Given the description of an element on the screen output the (x, y) to click on. 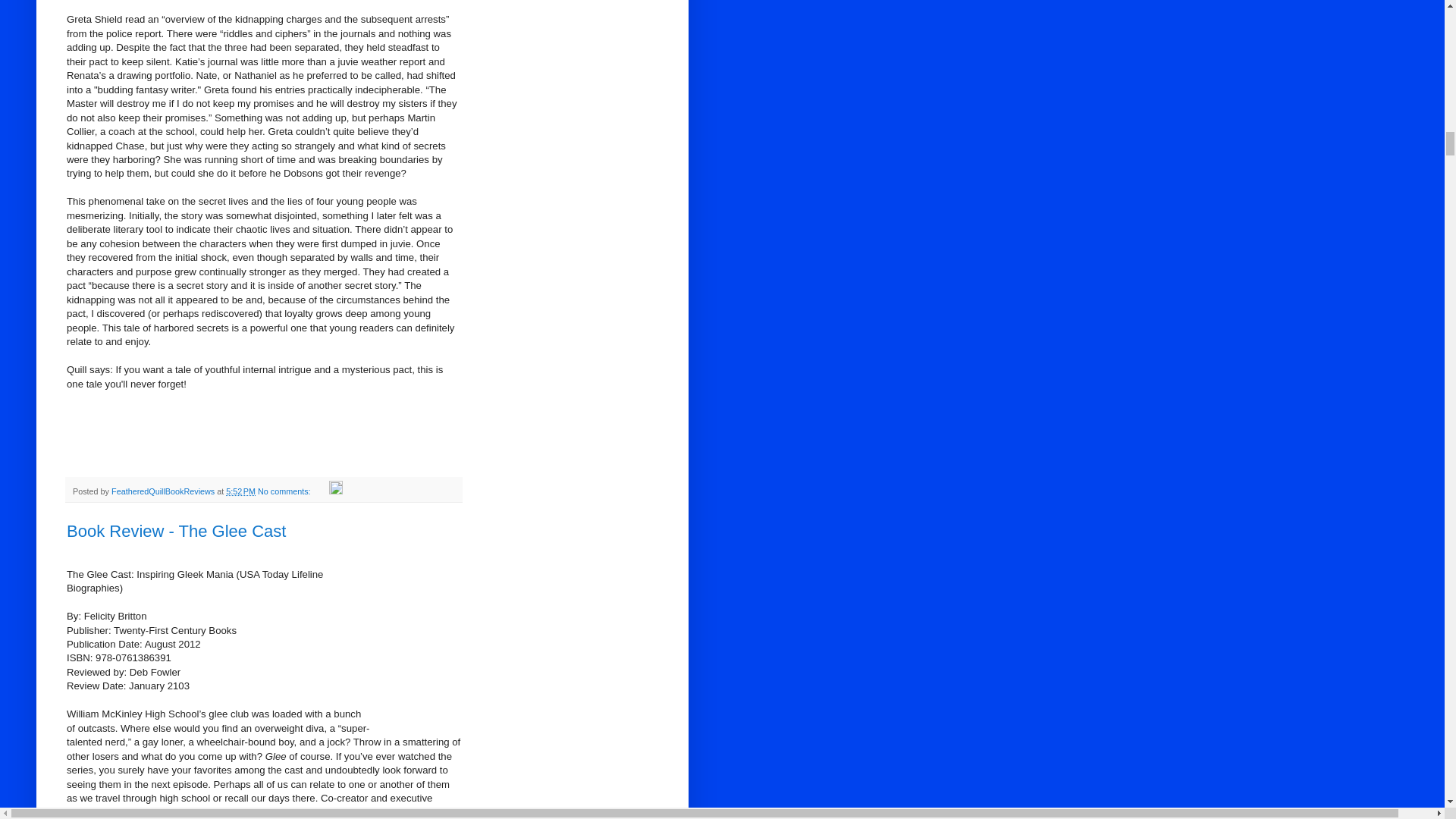
FeatheredQuillBookReviews (164, 491)
No comments: (285, 491)
author profile (164, 491)
Book Review - The Glee Cast (175, 530)
permanent link (240, 491)
